Given the description of an element on the screen output the (x, y) to click on. 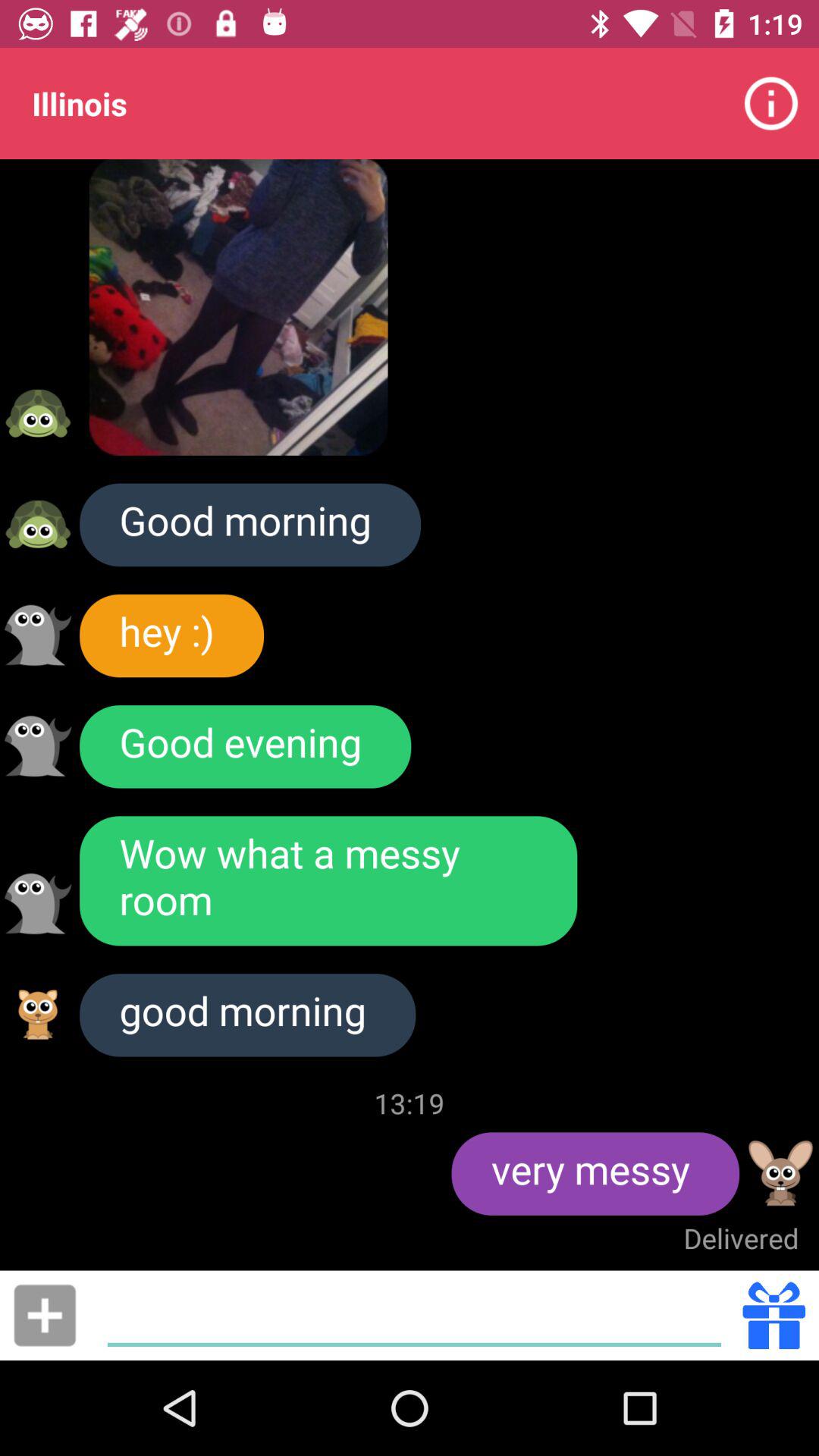
turn on the icon below good evening  icon (328, 880)
